Given the description of an element on the screen output the (x, y) to click on. 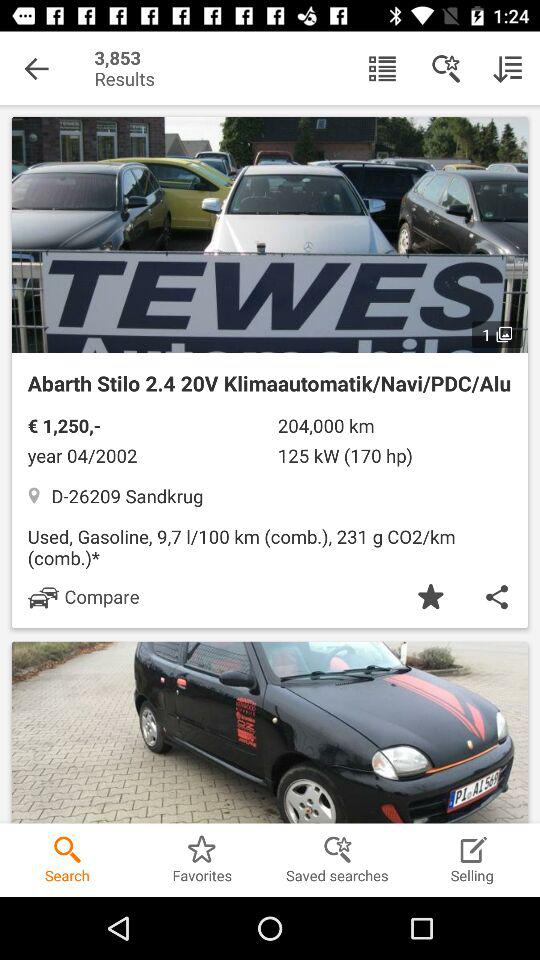
choose the icon next to 3,853 icon (36, 68)
